Given the description of an element on the screen output the (x, y) to click on. 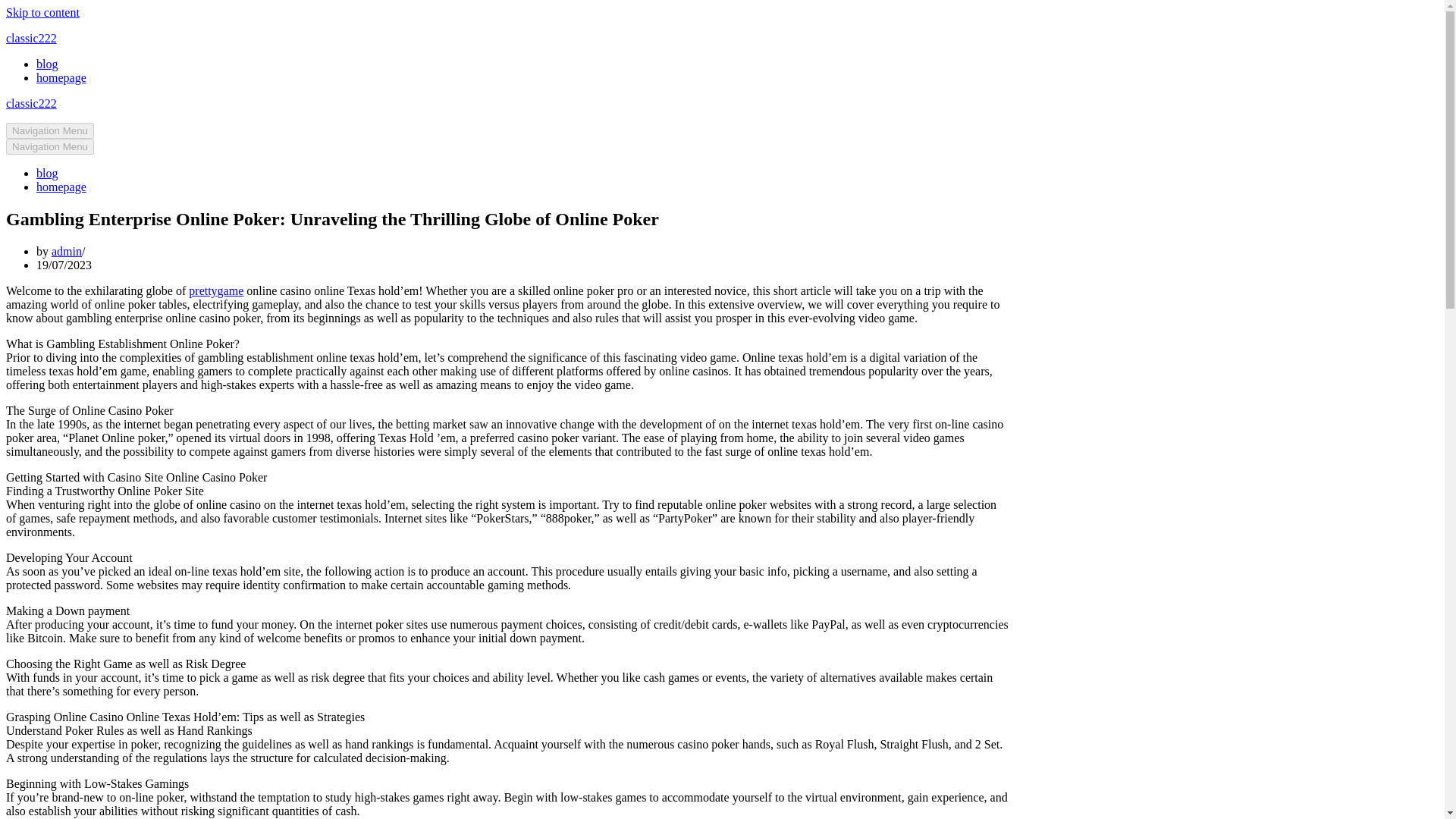
Posts by admin (65, 250)
prettygame (216, 290)
homepage (60, 77)
admin (65, 250)
blog (47, 63)
Skip to content (42, 11)
blog (47, 173)
Navigation Menu (49, 130)
homepage (60, 186)
Navigation Menu (49, 146)
